Given the description of an element on the screen output the (x, y) to click on. 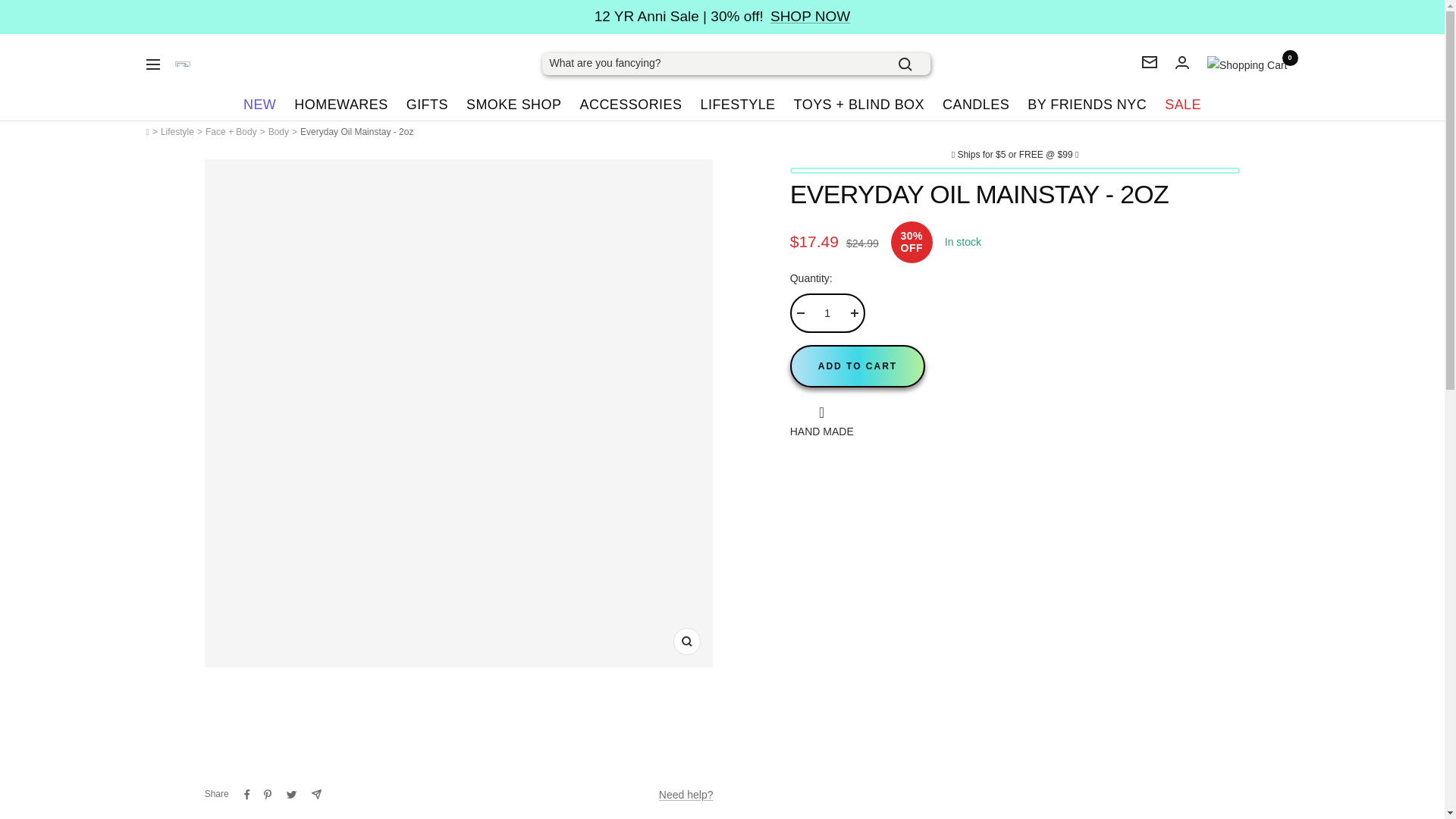
Navigation (151, 63)
SMOKE SHOP (513, 104)
SHOP NOW (810, 16)
0 (1247, 65)
CANDLES (975, 104)
Body (277, 131)
Lifestyle (176, 131)
ACCESSORIES (630, 104)
SALE (1182, 104)
NEW (259, 104)
Newsletter (1149, 61)
HOMEWARES (340, 104)
Zoom (686, 641)
FriendsNYC (181, 63)
GIFTS (427, 104)
